Given the description of an element on the screen output the (x, y) to click on. 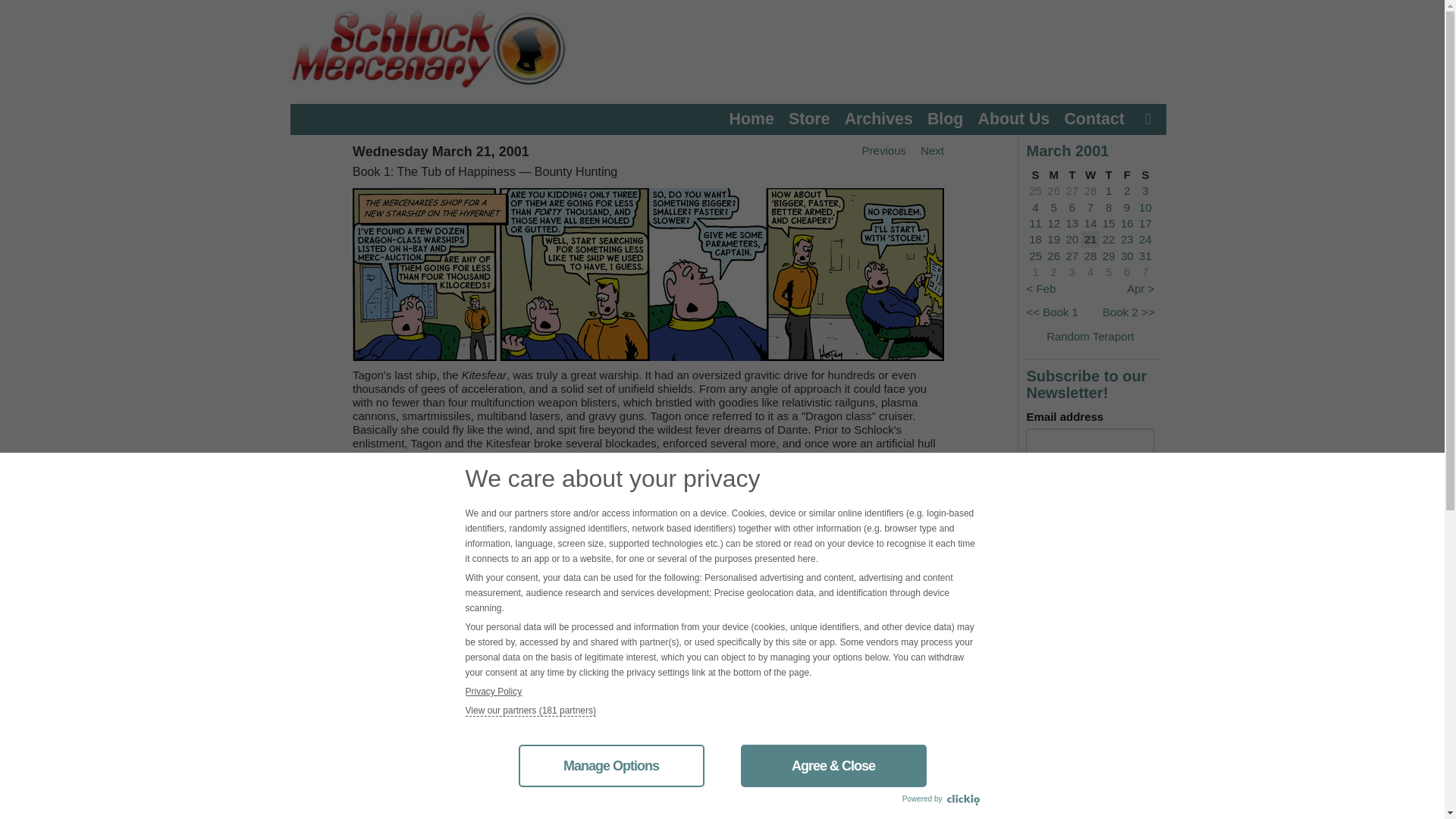
Writing Excuses (329, 799)
2016 (301, 704)
About Us (1013, 118)
Archives (878, 118)
Howard Tayler's Hub (336, 777)
25 (1035, 190)
2 (1126, 190)
Clickio (962, 800)
26 (1052, 190)
Contact (1094, 118)
Next (925, 150)
Home (751, 118)
Previous (877, 150)
2019 (301, 659)
Next (925, 508)
